Given the description of an element on the screen output the (x, y) to click on. 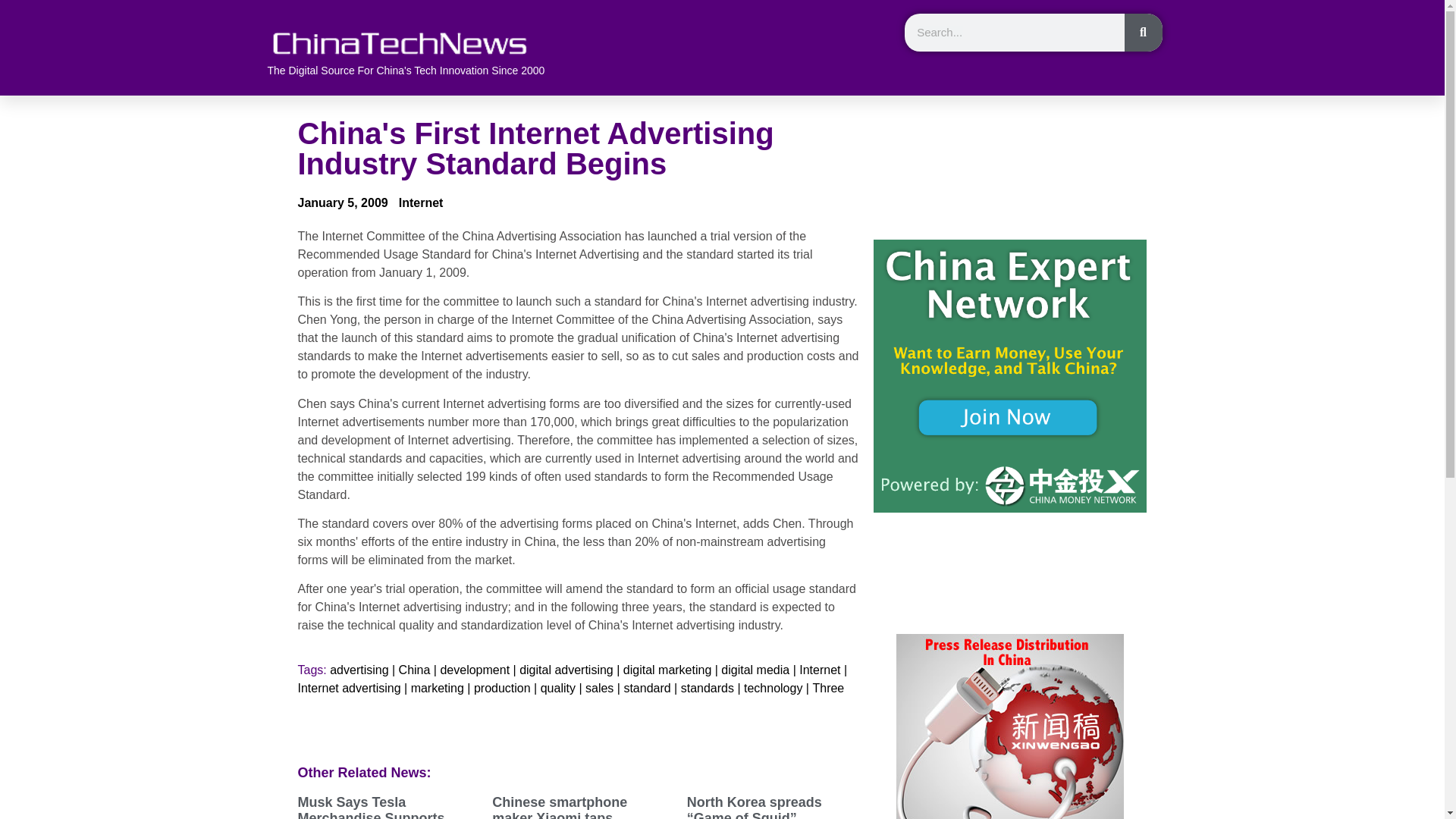
sales (598, 688)
China (414, 669)
Internet advertising (348, 688)
development (474, 669)
Three (828, 688)
standards (707, 688)
marketing (437, 688)
digital advertising (565, 669)
advertising (359, 669)
technology (773, 688)
quality (557, 688)
Internet (819, 669)
production (502, 688)
Internet (421, 203)
